Given the description of an element on the screen output the (x, y) to click on. 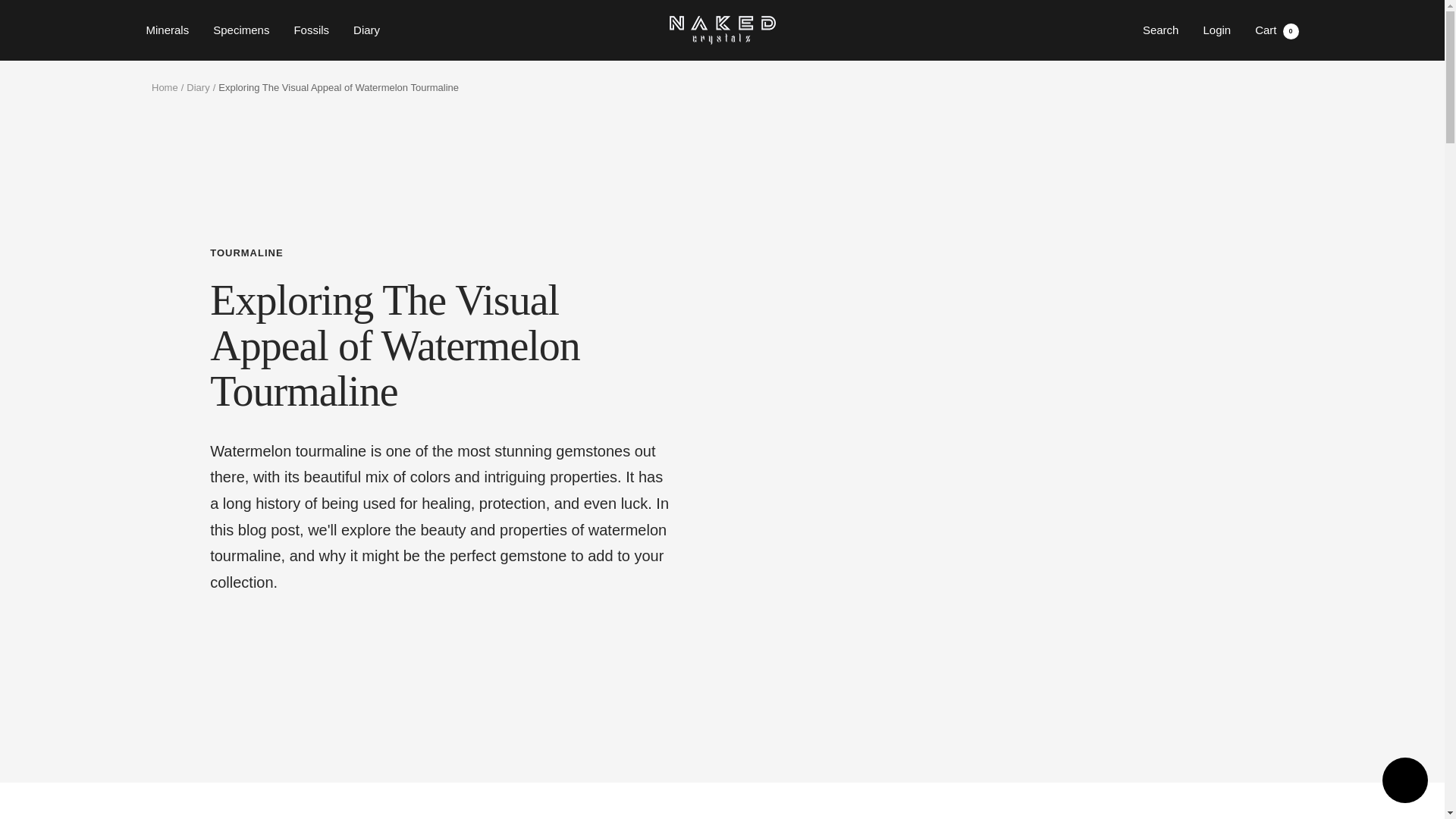
Shopify online store chat (1404, 781)
Specimens (240, 30)
Diary (1276, 29)
Diary (366, 30)
Fossils (197, 87)
Home (311, 30)
Naked Crystalz (164, 87)
TOURMALINE (721, 30)
Login (438, 253)
